Given the description of an element on the screen output the (x, y) to click on. 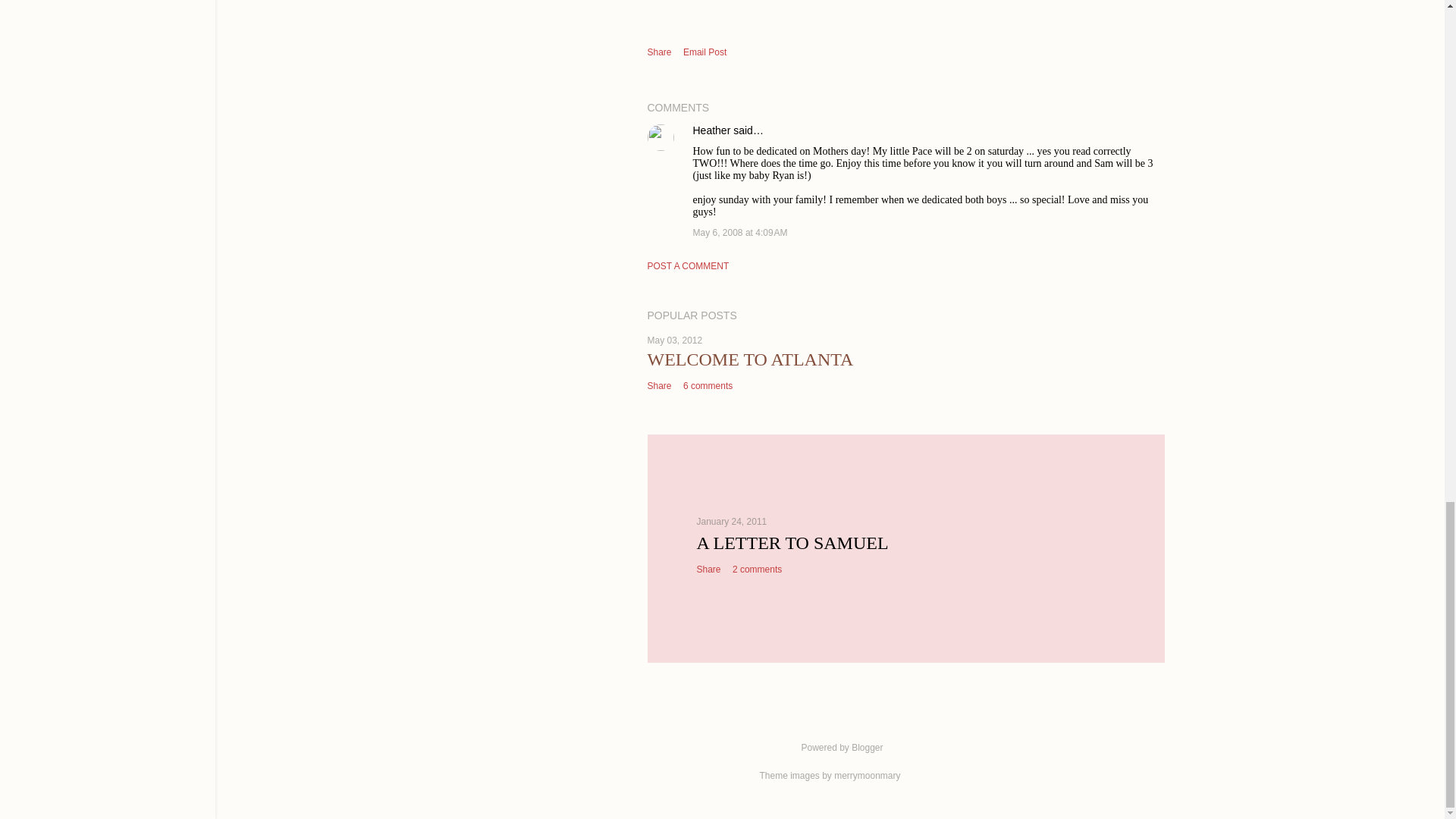
POST A COMMENT (688, 266)
comment permalink (740, 232)
Email Post (704, 51)
A LETTER TO SAMUEL (791, 542)
Share (659, 51)
May 03, 2012 (675, 339)
Heather (711, 130)
2 comments (756, 569)
WELCOME TO ATLANTA (750, 359)
